Given the description of an element on the screen output the (x, y) to click on. 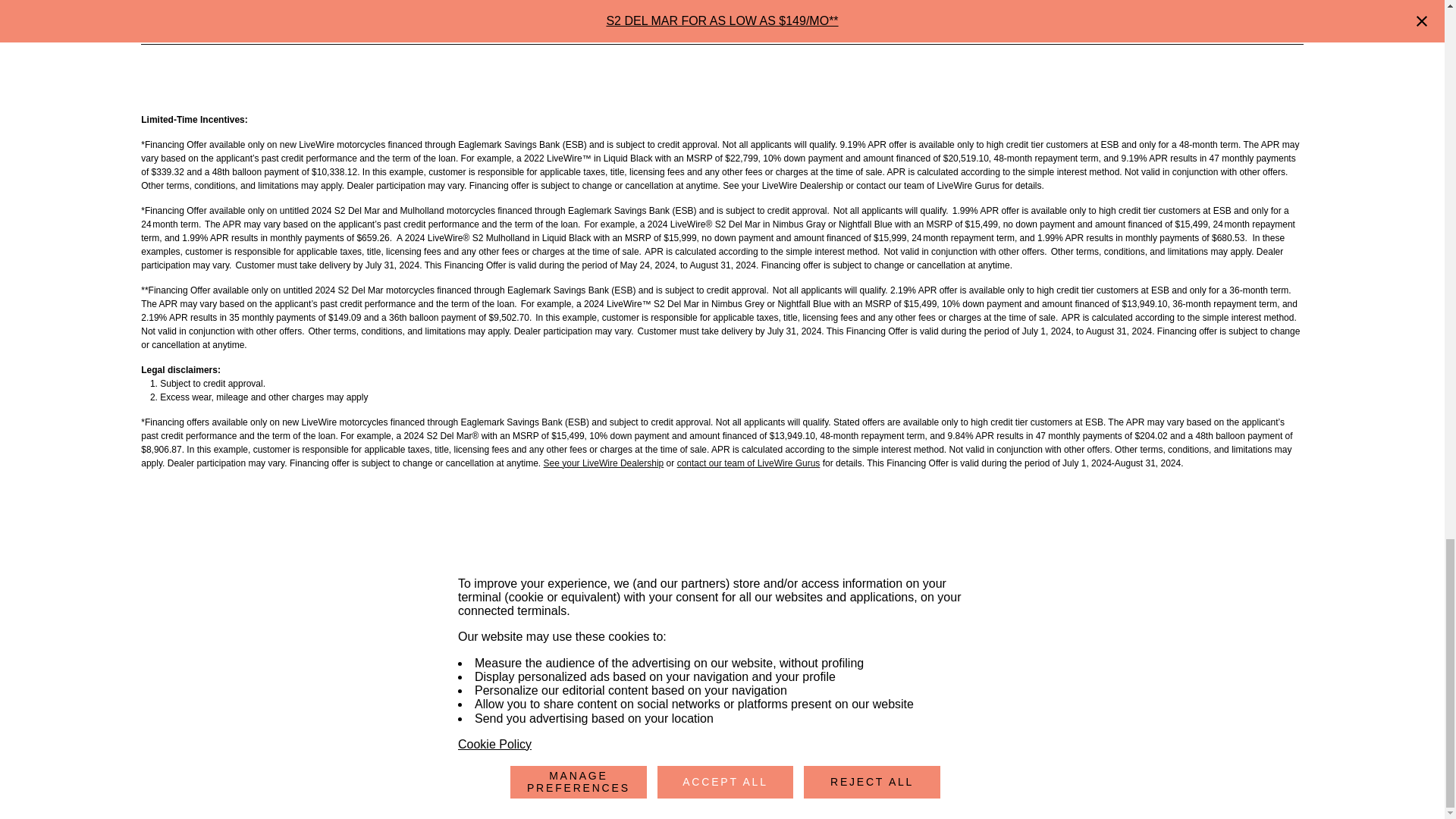
FINANCING (940, 664)
RESOURCES (754, 694)
YOUTUBE (932, 762)
Manage Cookie Preferences (431, 686)
VISION (735, 664)
FAQ (916, 724)
CAREERS (1125, 694)
Privacy Policy (268, 686)
Cookie Policy (334, 686)
CONTACT (1125, 664)
